Given the description of an element on the screen output the (x, y) to click on. 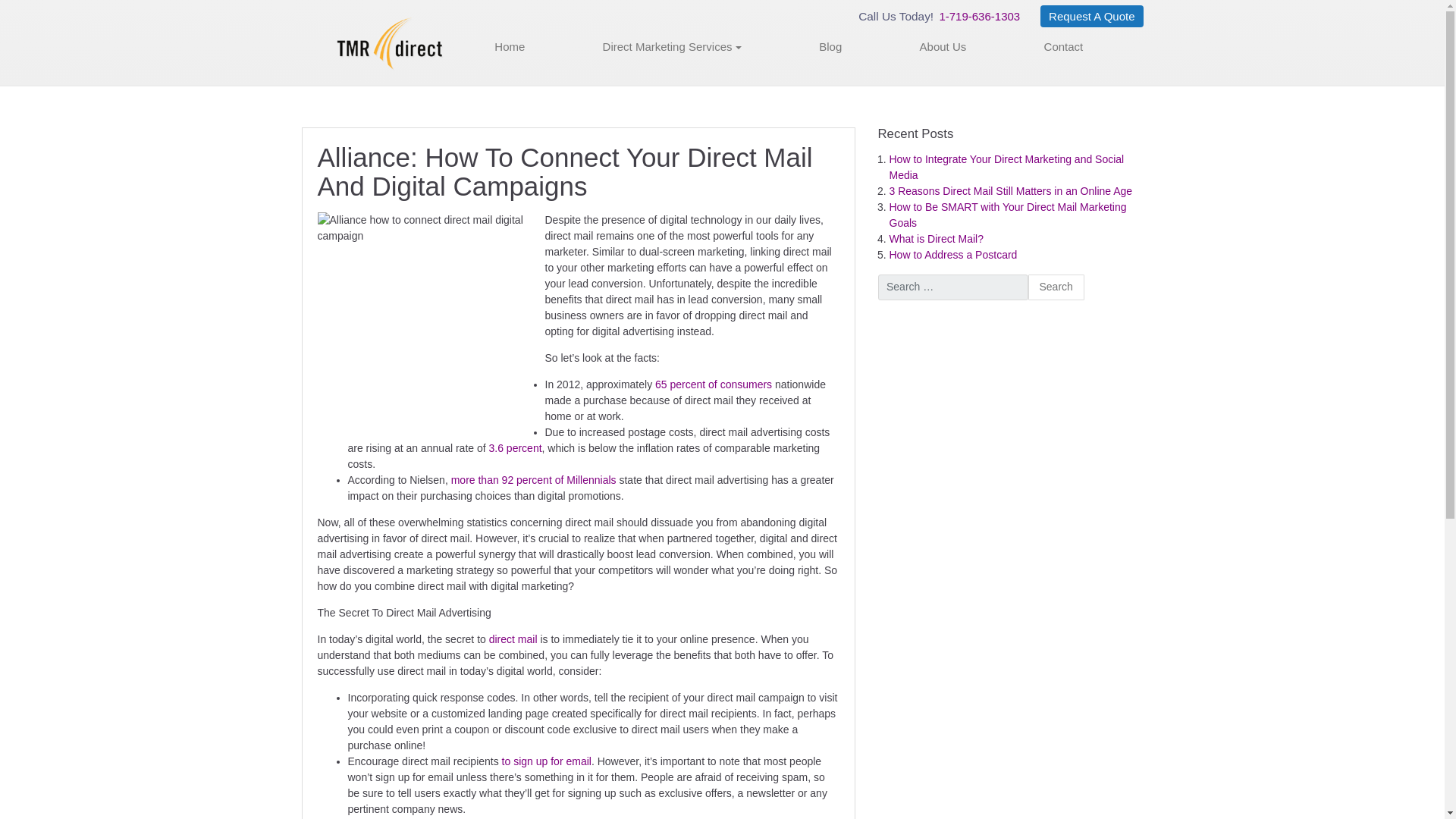
Blog (830, 47)
3 Reasons Direct Mail Still Matters in an Online Age (1010, 191)
How to Be SMART with Your Direct Mail Marketing Goals (1006, 214)
Contact (1064, 47)
more than 92 percent of Millennials (533, 480)
to sign up for email (546, 761)
to sign up for email (546, 761)
Search (1055, 287)
65 percent of consumers (713, 384)
more than 92 percent of Millennials (533, 480)
